Given the description of an element on the screen output the (x, y) to click on. 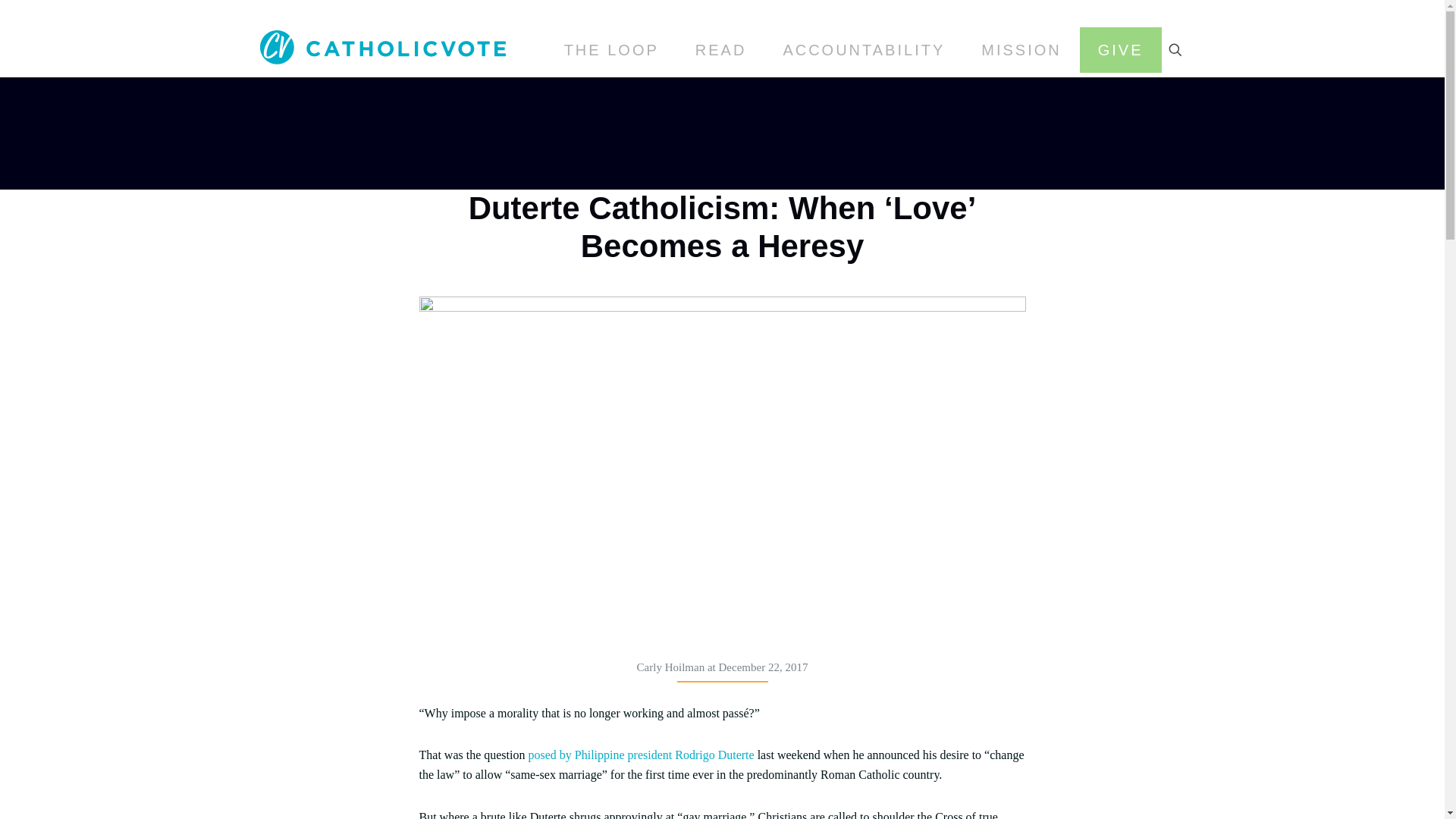
Carly Hoilman (670, 666)
THE LOOP (611, 49)
ACCOUNTABILITY (863, 49)
MISSION (1020, 49)
CatholicVote org (382, 45)
READ (721, 49)
posed by Philippine president Rodrigo Duterte (639, 754)
GIVE (1120, 49)
